Given the description of an element on the screen output the (x, y) to click on. 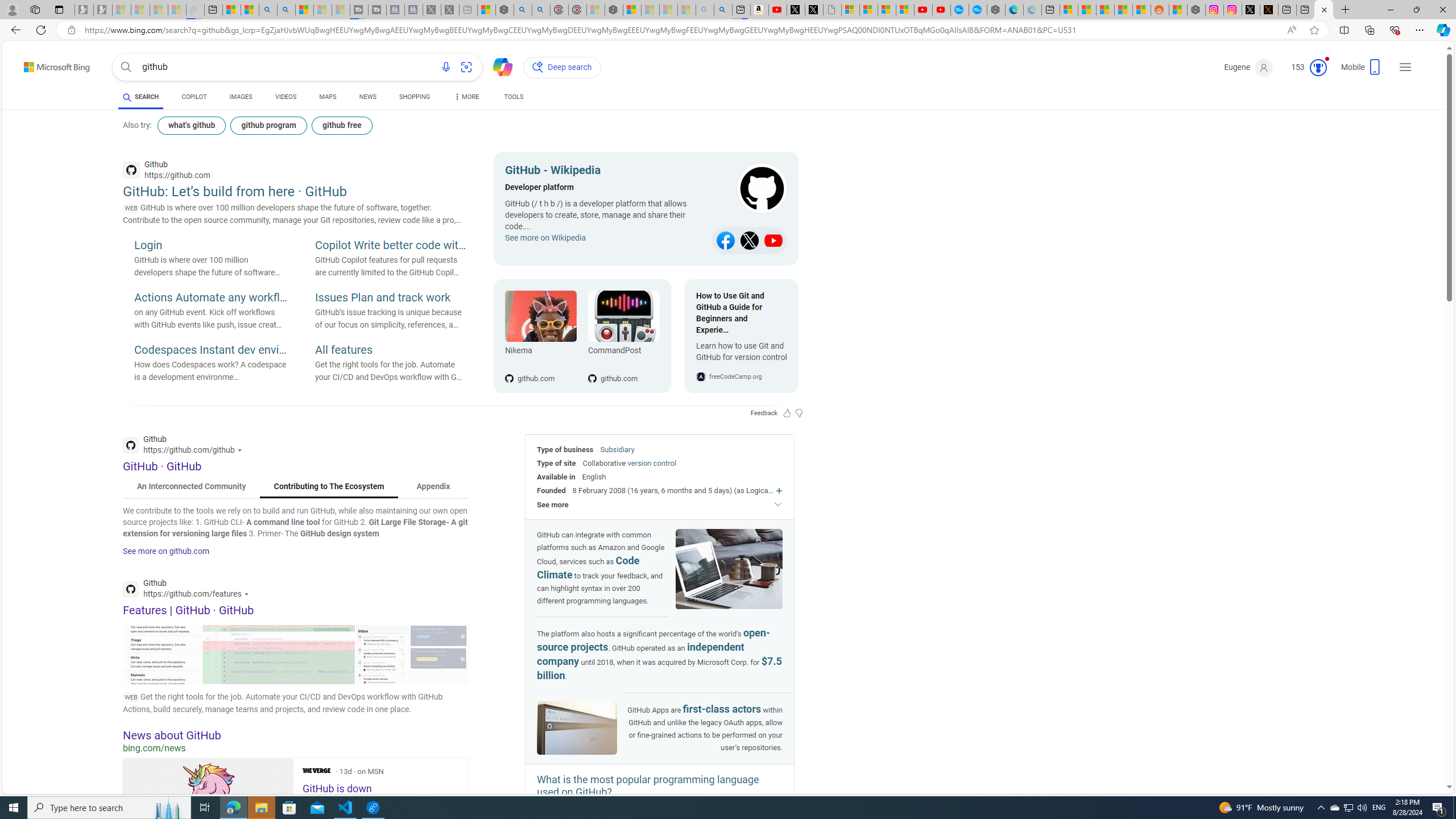
All features (391, 350)
Feedback Dislike (798, 412)
Image of GitHub (577, 728)
NEWS (367, 96)
View details (437, 653)
An Interconnected Community (191, 486)
Class: b_sitlk (773, 240)
MORE (465, 98)
Codespaces Instant dev environments (210, 350)
Nordace - Nordace Siena Is Not An Ordinary Backpack (613, 9)
